Given the description of an element on the screen output the (x, y) to click on. 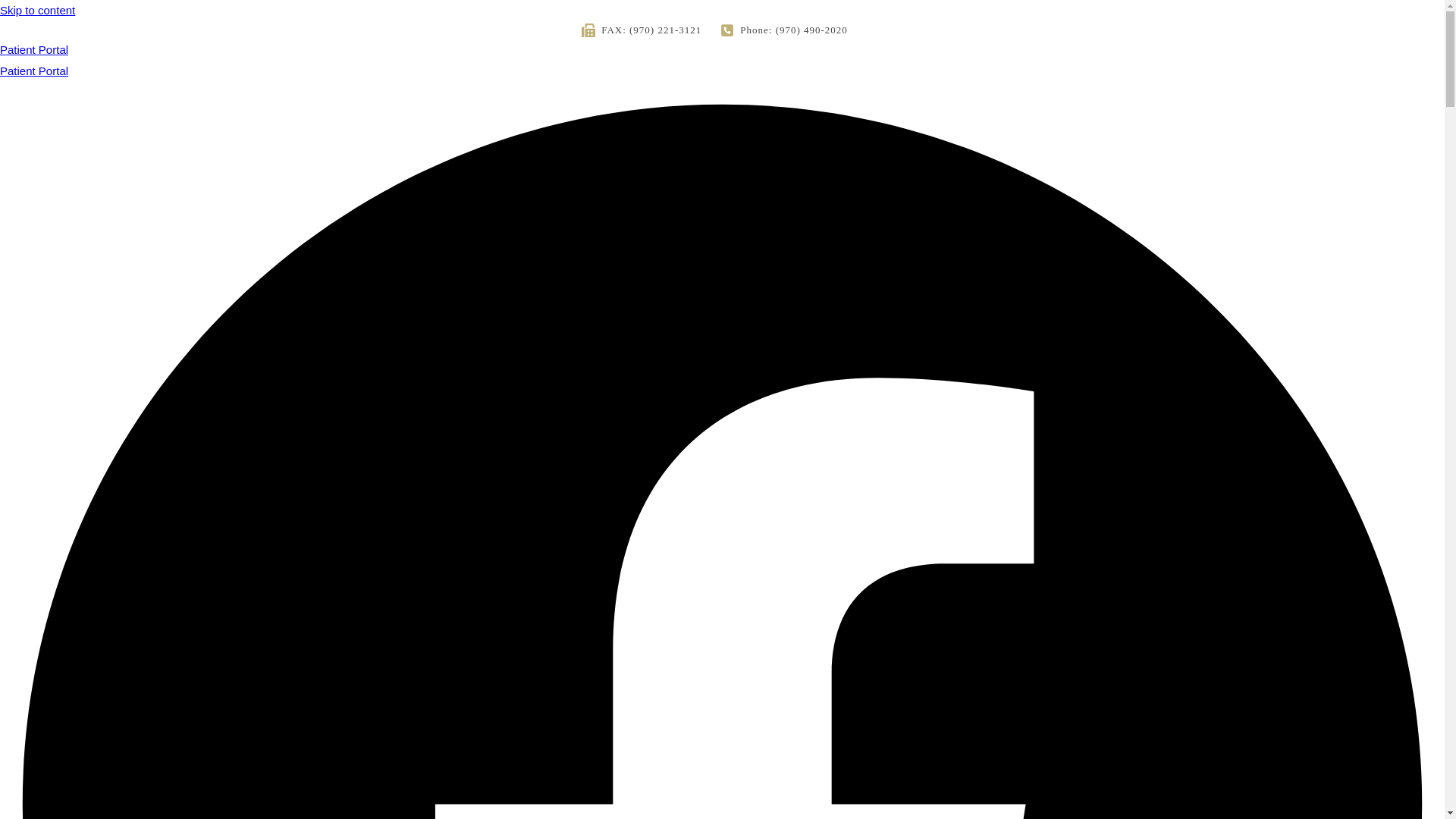
Patient Portal Element type: text (722, 58)
Skip to content Element type: text (37, 9)
Patient Portal Element type: text (34, 70)
